Given the description of an element on the screen output the (x, y) to click on. 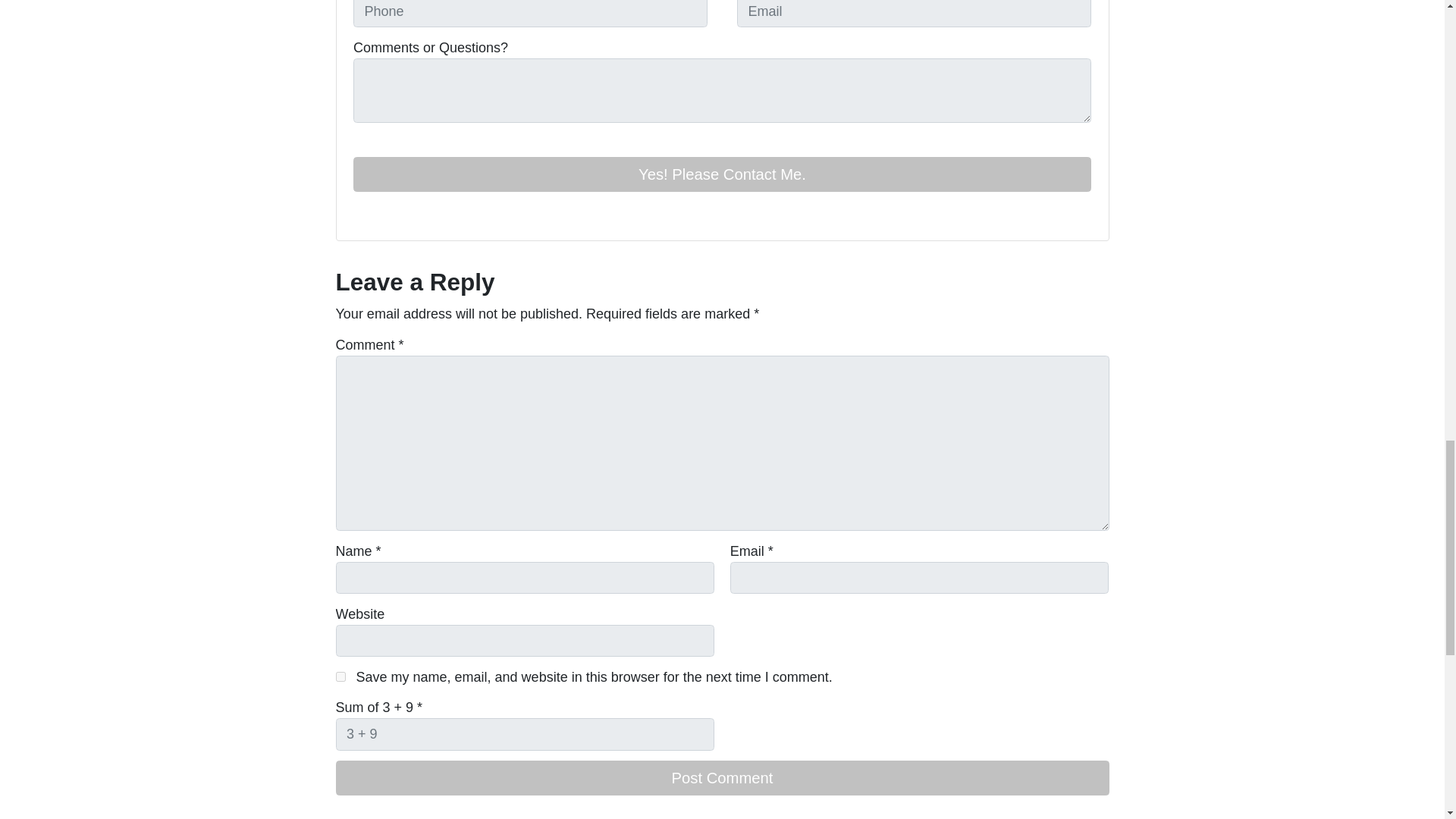
Post Comment (721, 777)
Facebook (362, 214)
Yes! Please Contact Me.  (721, 174)
yes (339, 676)
Post Comment (721, 777)
Yes! Please Contact Me.  (721, 174)
